Given the description of an element on the screen output the (x, y) to click on. 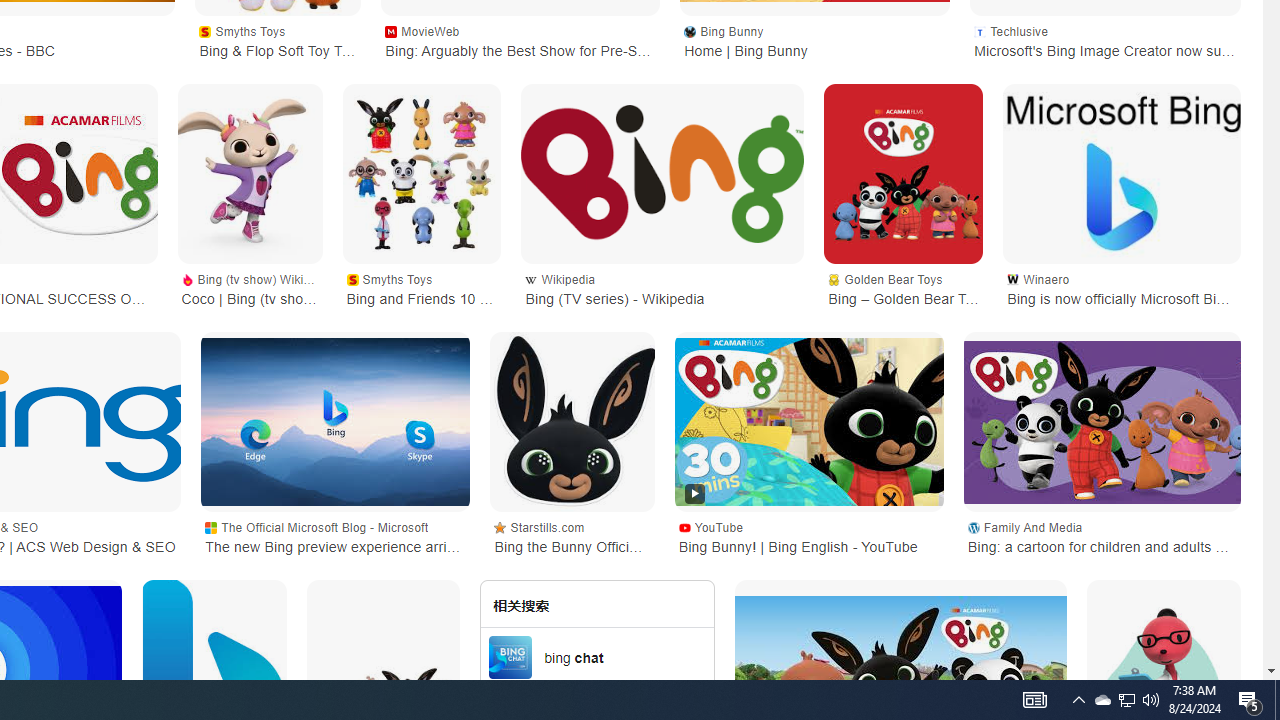
Smyths Toys Bing & Flop Soft Toy Twin Pack | Smyths Toys UK (278, 39)
Bing is now officially Microsoft Bing with a new logo (1122, 174)
Bing Bunny! | Bing English - YouTube (809, 421)
Bing is now officially Microsoft Bing with a new logo (1122, 174)
Bing the Bunny Official 2D Card Party Mask (572, 421)
Bing Bunny! | Bing English - YouTube (809, 421)
Coco | Bing (tv show) Wikia | Fandom (249, 174)
Bing (TV series) - Wikipedia (662, 173)
